Given the description of an element on the screen output the (x, y) to click on. 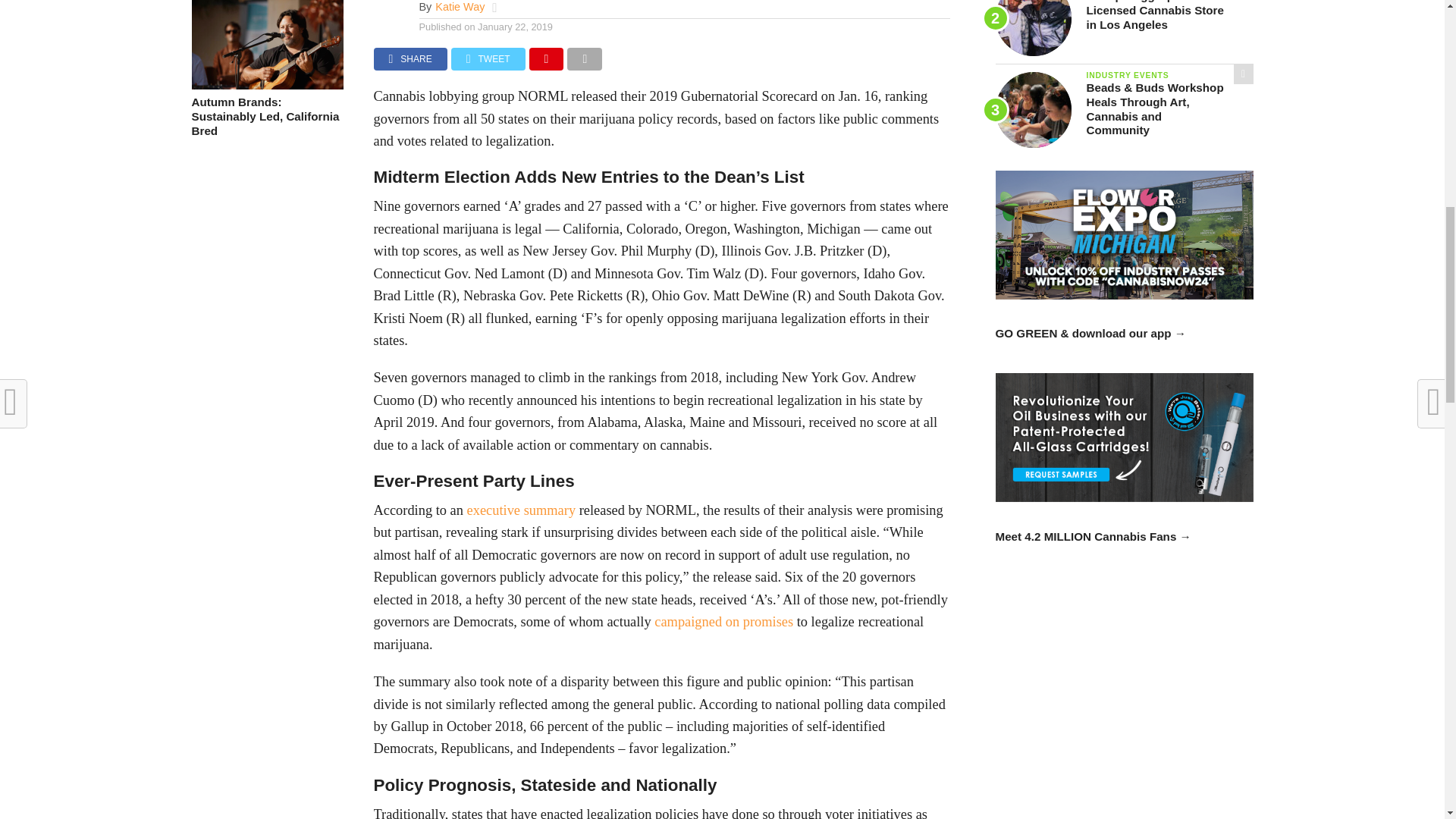
Posts by Katie Way (459, 6)
Autumn Brands: Sustainably Led, California Bred (266, 84)
